Given the description of an element on the screen output the (x, y) to click on. 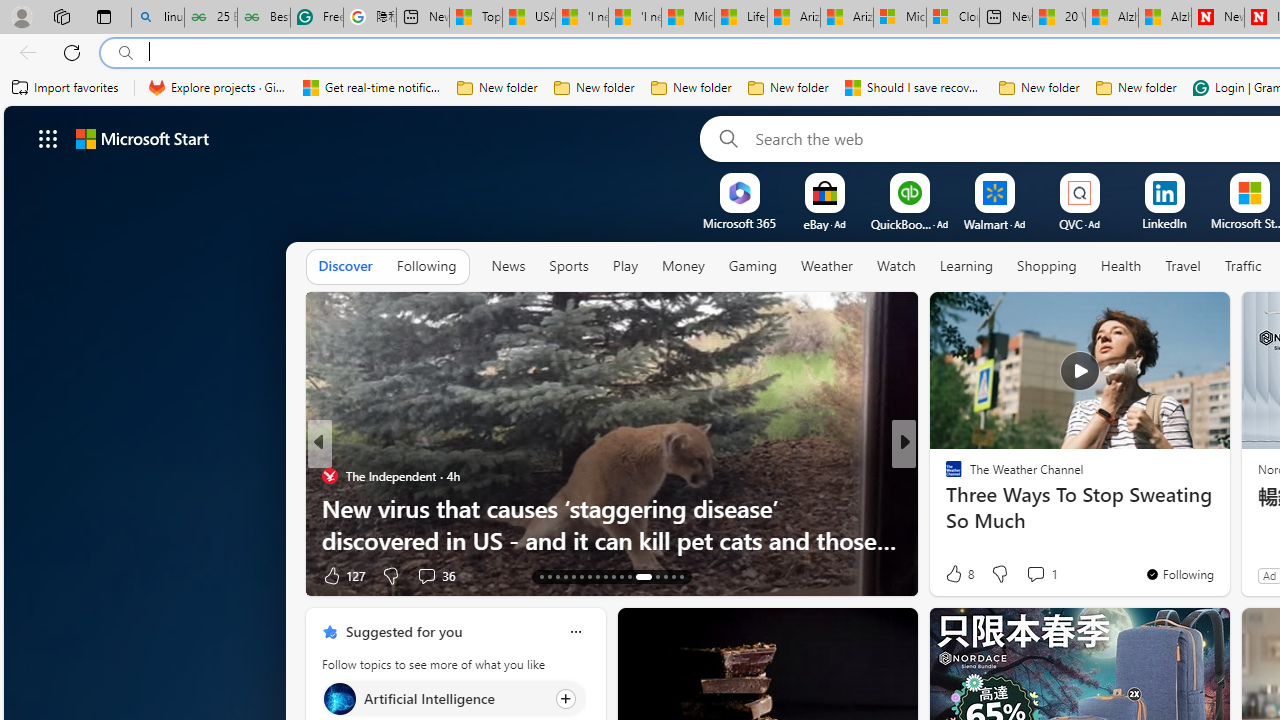
USA TODAY - MSN (529, 17)
AutomationID: tab-20 (596, 576)
Newsweek - News, Analysis, Politics, Business, Technology (1217, 17)
Import favorites (65, 88)
86 Like (956, 574)
New folder (1136, 88)
8 Like (957, 574)
You're following The Weather Channel (1179, 573)
View comments 10 Comment (1042, 575)
